Given the description of an element on the screen output the (x, y) to click on. 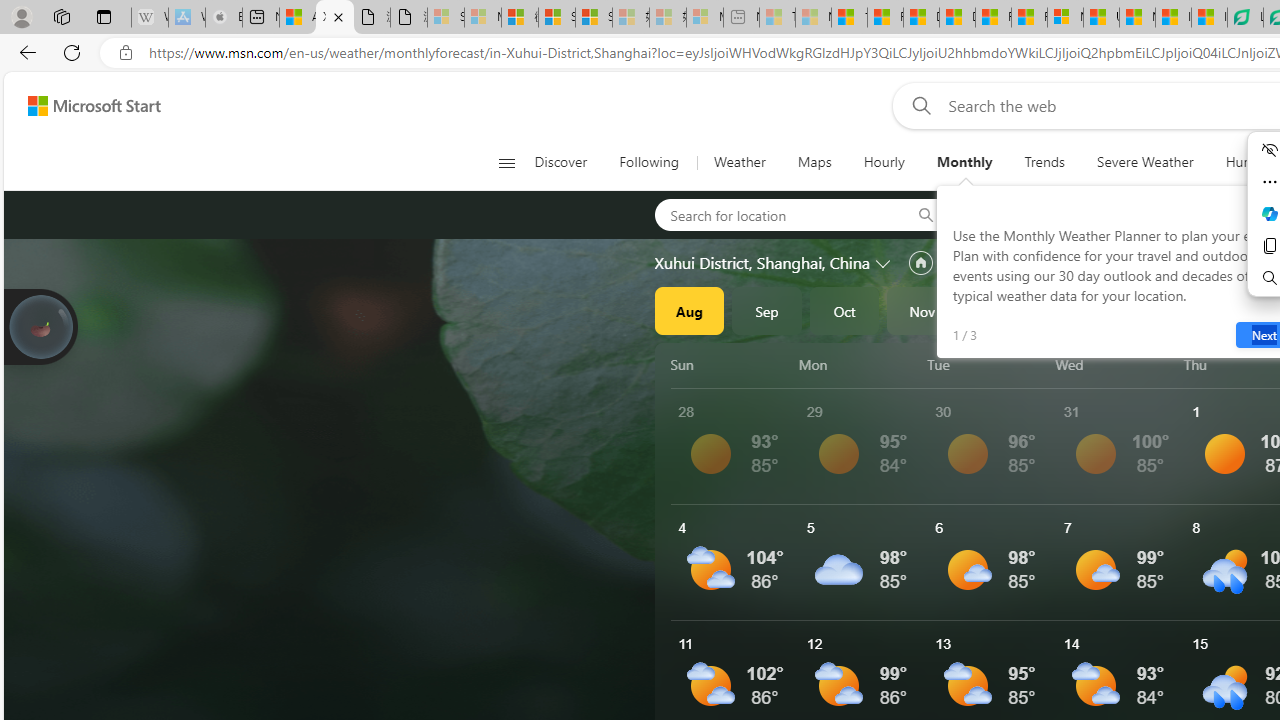
Aberdeen (1014, 214)
Open navigation menu (506, 162)
Sign in to your Microsoft account - Sleeping (445, 17)
Oct (844, 310)
Sep (767, 310)
Maps (813, 162)
Tue (987, 363)
Wikipedia - Sleeping (149, 17)
